Given the description of an element on the screen output the (x, y) to click on. 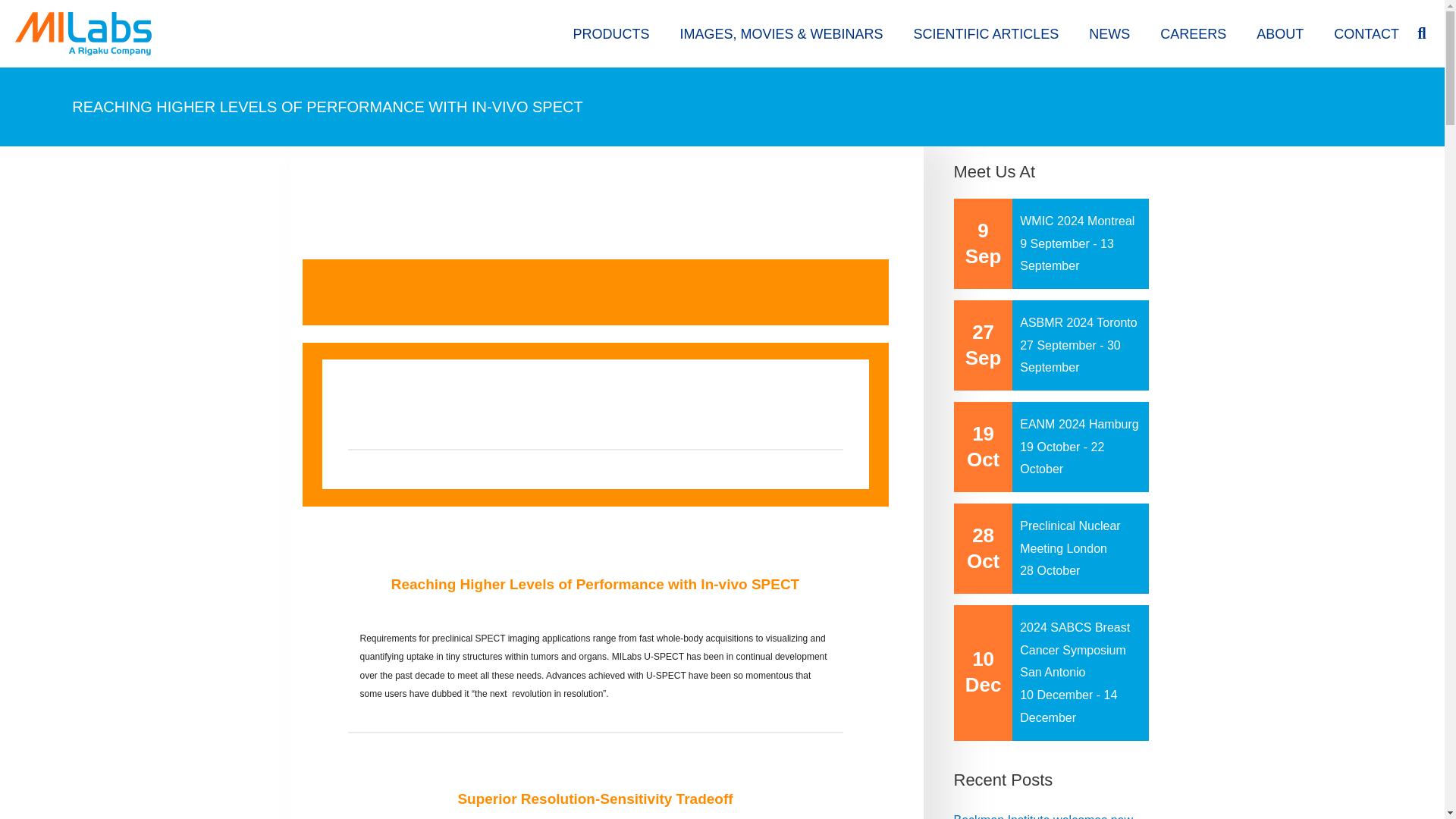
CAREERS (1192, 33)
PRODUCTS (610, 33)
CONTACT (1366, 33)
SCIENTIFIC ARTICLES (986, 33)
NEWS (1109, 33)
ABOUT (1280, 33)
